Given the description of an element on the screen output the (x, y) to click on. 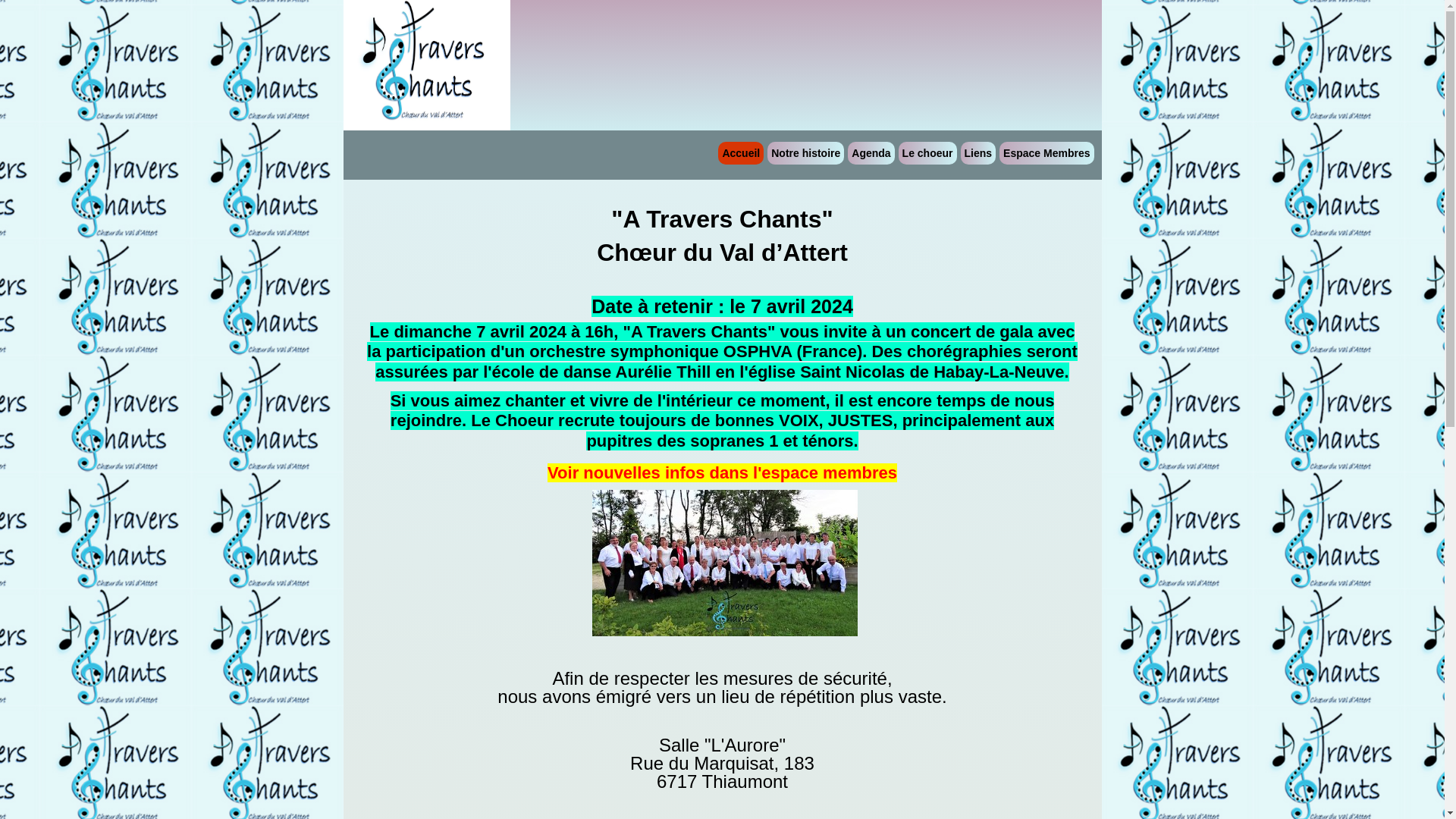
Agenda Element type: text (870, 152)
Liens Element type: text (978, 152)
Accueil Element type: text (740, 152)
Espace Membres Element type: text (1046, 152)
Le choeur Element type: text (927, 152)
Notre histoire Element type: text (805, 152)
